Given the description of an element on the screen output the (x, y) to click on. 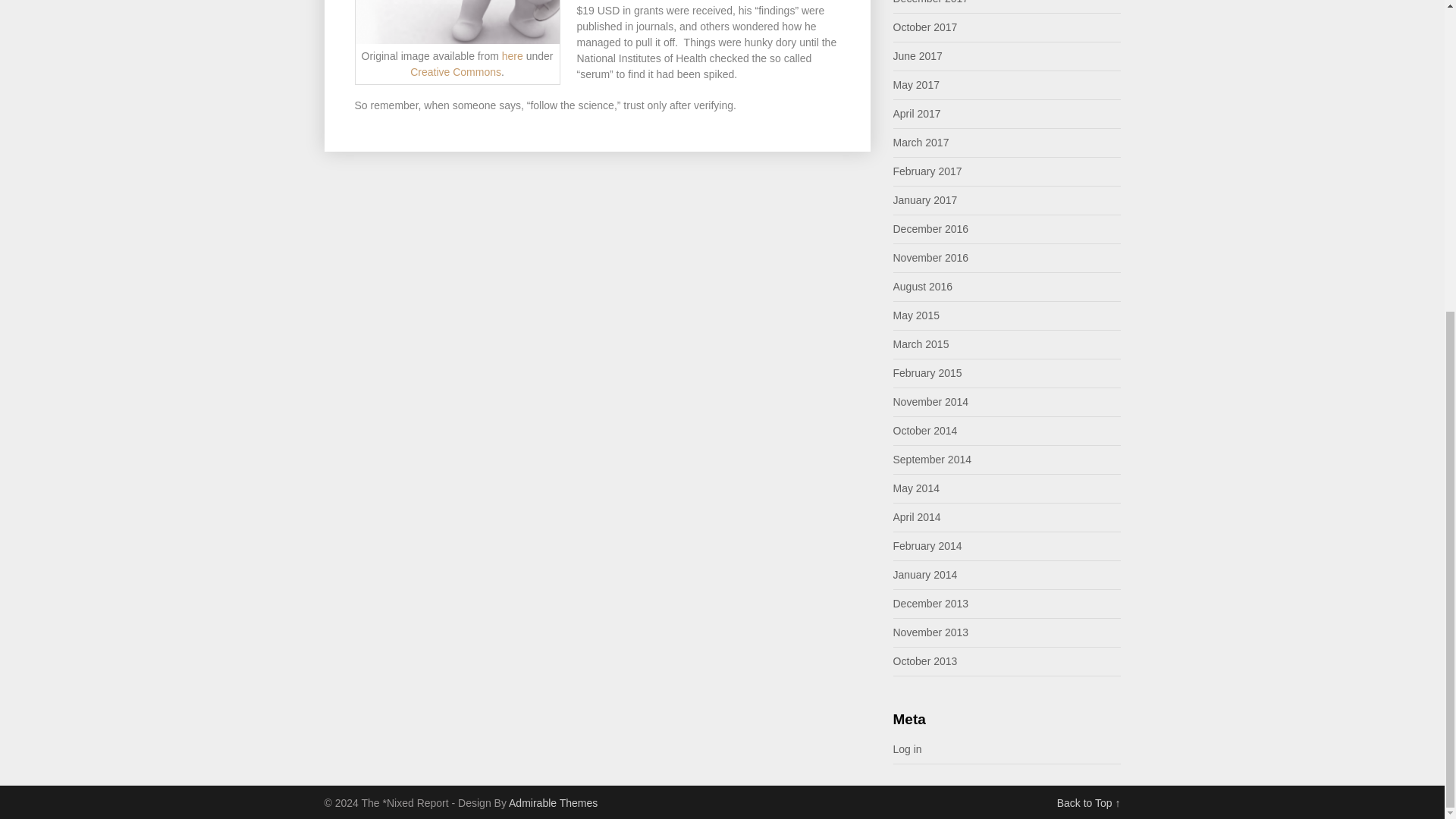
October 2017 (925, 27)
March 2017 (921, 142)
February 2017 (927, 171)
November 2014 (931, 401)
April 2017 (916, 113)
February 2015 (927, 372)
June 2017 (917, 55)
February 2014 (927, 545)
May 2014 (916, 488)
here (512, 55)
August 2016 (923, 286)
May 2015 (916, 315)
January 2014 (925, 574)
January 2017 (925, 200)
Creative Commons (455, 71)
